Given the description of an element on the screen output the (x, y) to click on. 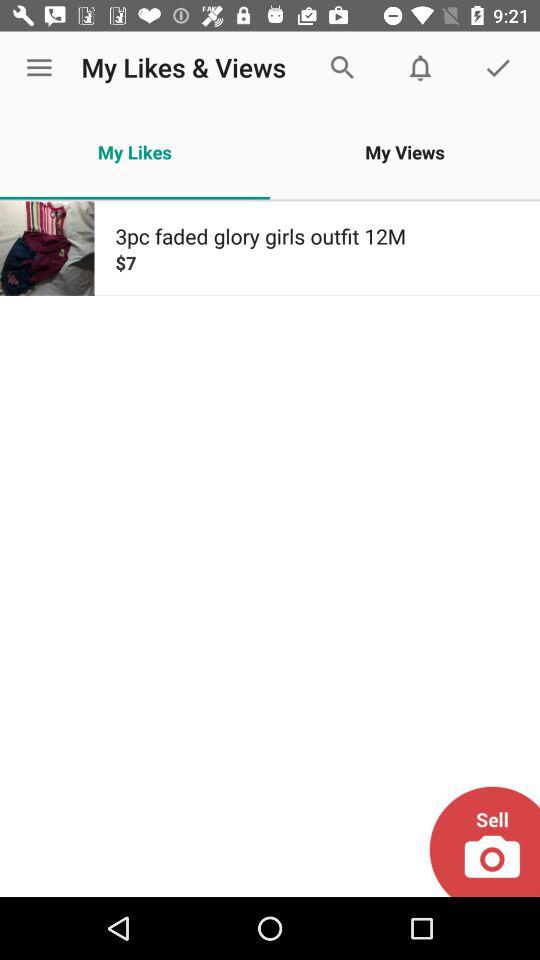
press icon at the bottom right corner (484, 841)
